Given the description of an element on the screen output the (x, y) to click on. 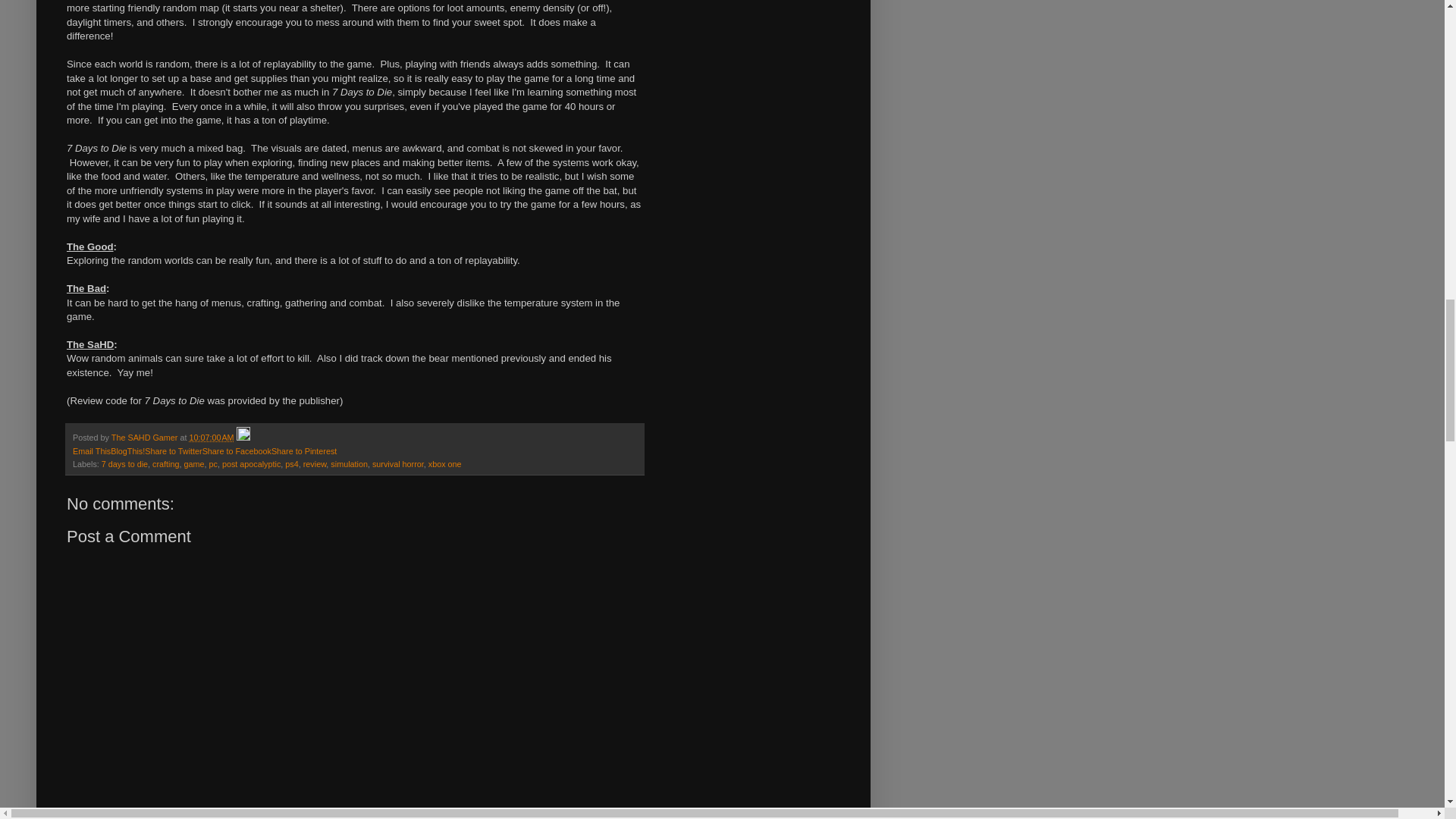
ps4 (291, 463)
review (314, 463)
Edit Post (242, 437)
The SAHD Gamer (146, 437)
author profile (146, 437)
Email This (91, 450)
7 days to die (124, 463)
survival horror (397, 463)
permanent link (210, 437)
Email This (91, 450)
